Given the description of an element on the screen output the (x, y) to click on. 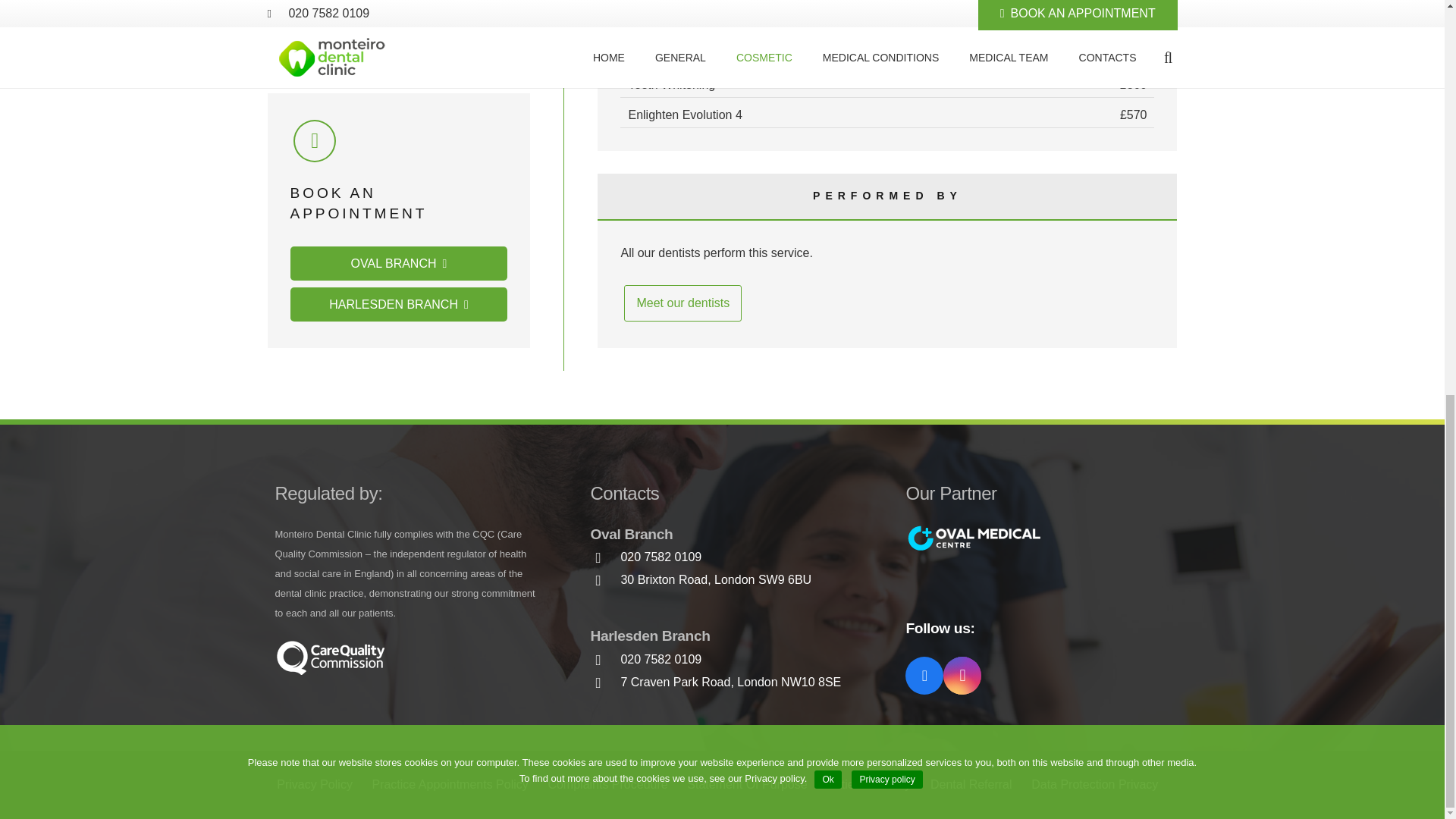
Facebook (924, 675)
Back to top (1413, 87)
Instagram (962, 675)
